Given the description of an element on the screen output the (x, y) to click on. 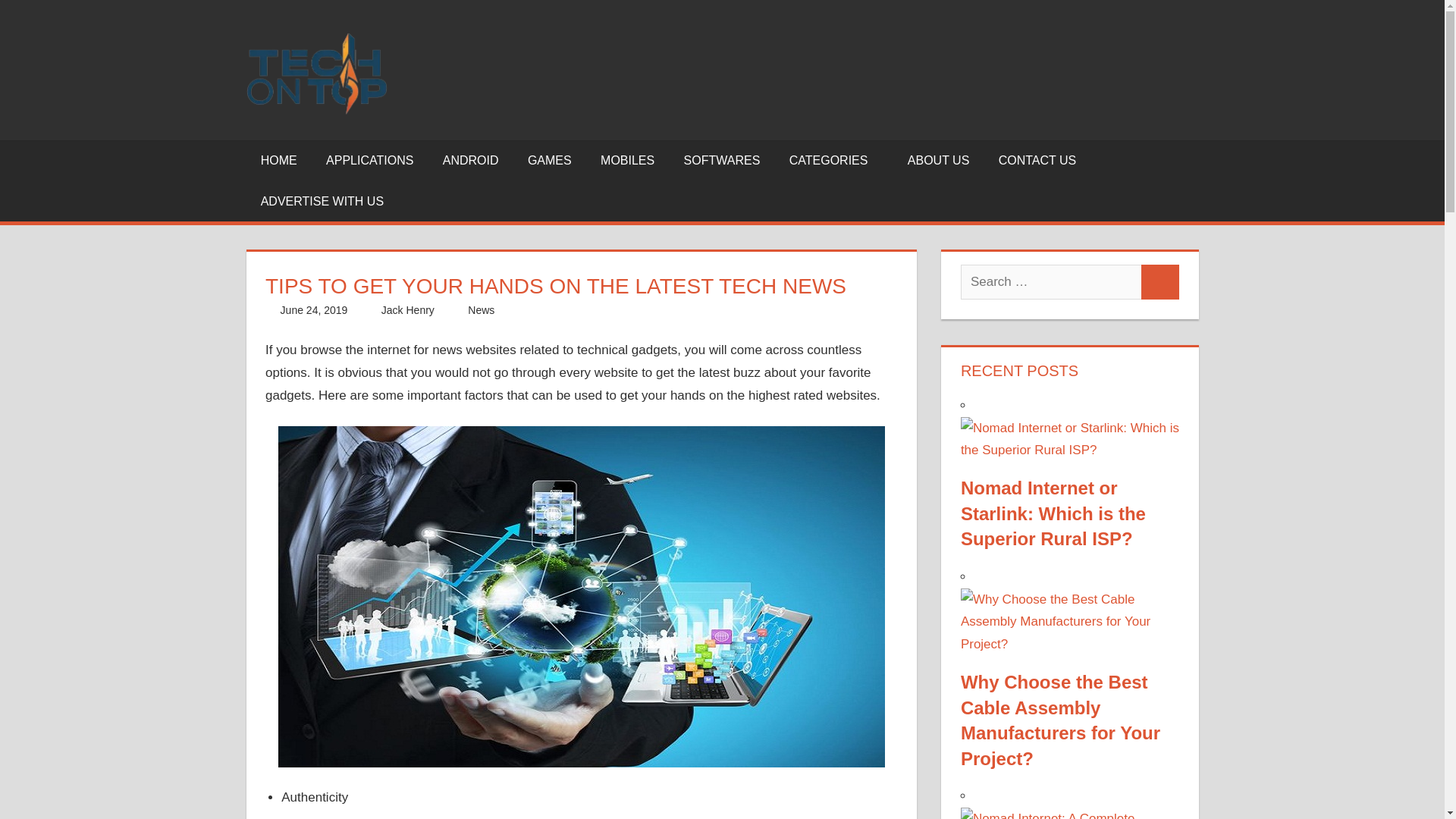
View all posts by Jack Henry (407, 309)
News (481, 309)
Search (1160, 281)
MOBILES (627, 160)
June 24, 2019 (314, 309)
GAMES (549, 160)
ANDROID (470, 160)
ADVERTISE WITH US (321, 200)
CONTACT US (1037, 160)
HOME (278, 160)
